Given the description of an element on the screen output the (x, y) to click on. 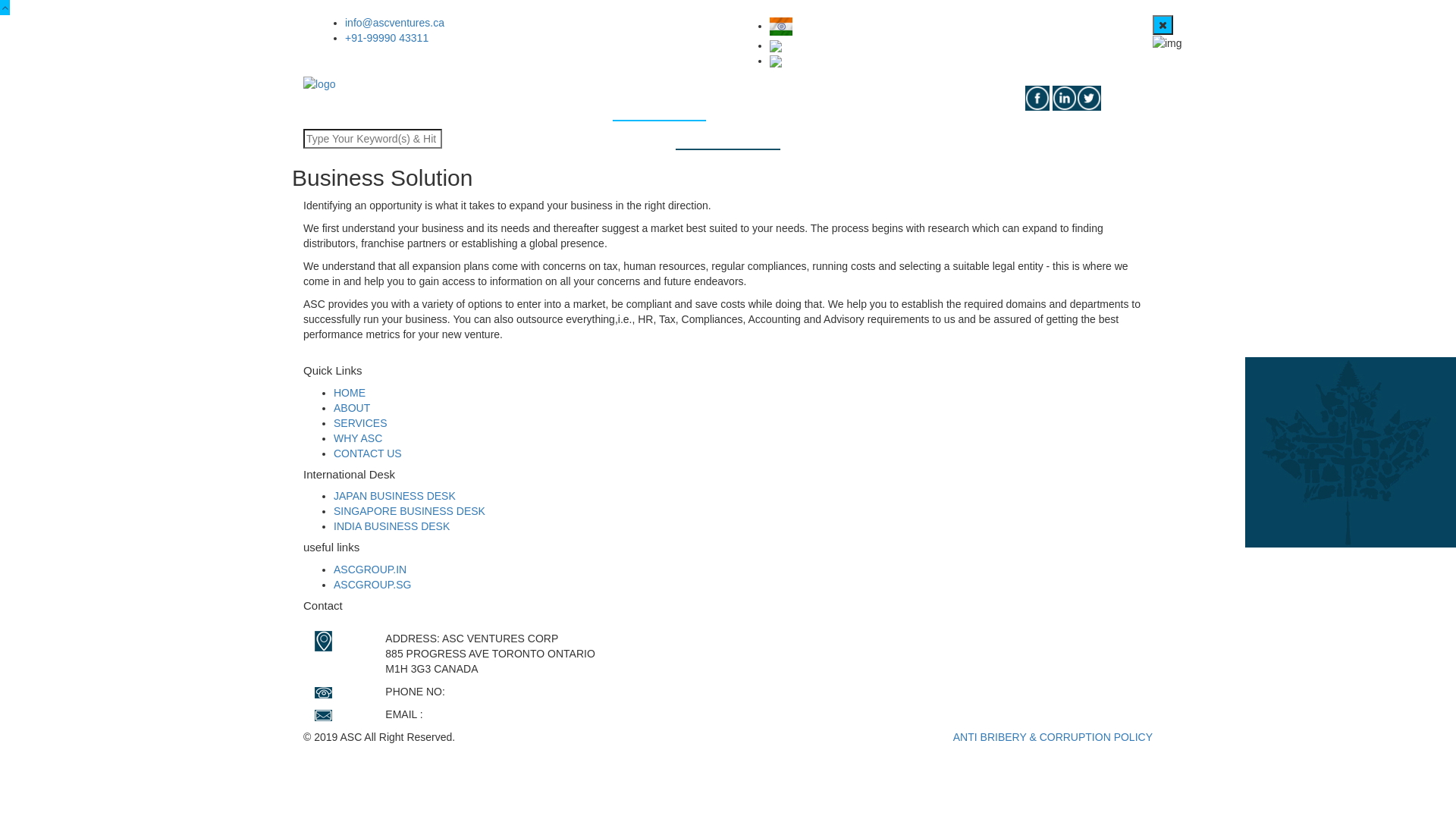
+91-99990 43311 Element type: text (386, 37)
ABOUT US Element type: text (571, 102)
INTERNATIONAL DESK Element type: text (864, 102)
+91-99990 43311 Element type: text (489, 691)
JAPAN BUSINESS DESK Element type: text (394, 495)
ASCGROUP.SG Element type: text (372, 583)
SERVICES Element type: text (659, 103)
WHY ASC Element type: text (357, 438)
SERVICES Element type: text (360, 423)
HOME Element type: text (349, 392)
ABOUT Element type: text (351, 407)
WHY ASC Element type: text (744, 102)
ASCGROUP.IN Element type: text (369, 568)
SINGAPORE BUSINESS DESK Element type: text (409, 511)
HOME Element type: text (501, 102)
INDIA BUSINESS DESK Element type: text (391, 526)
info@ascventures.ca Element type: text (394, 22)
info@ascventures.ca Element type: text (475, 714)
ANTI BRIBERY & CORRUPTION POLICY Element type: text (1052, 737)
CONTACT US Element type: text (367, 453)
CONTACT Element type: text (985, 102)
